Given the description of an element on the screen output the (x, y) to click on. 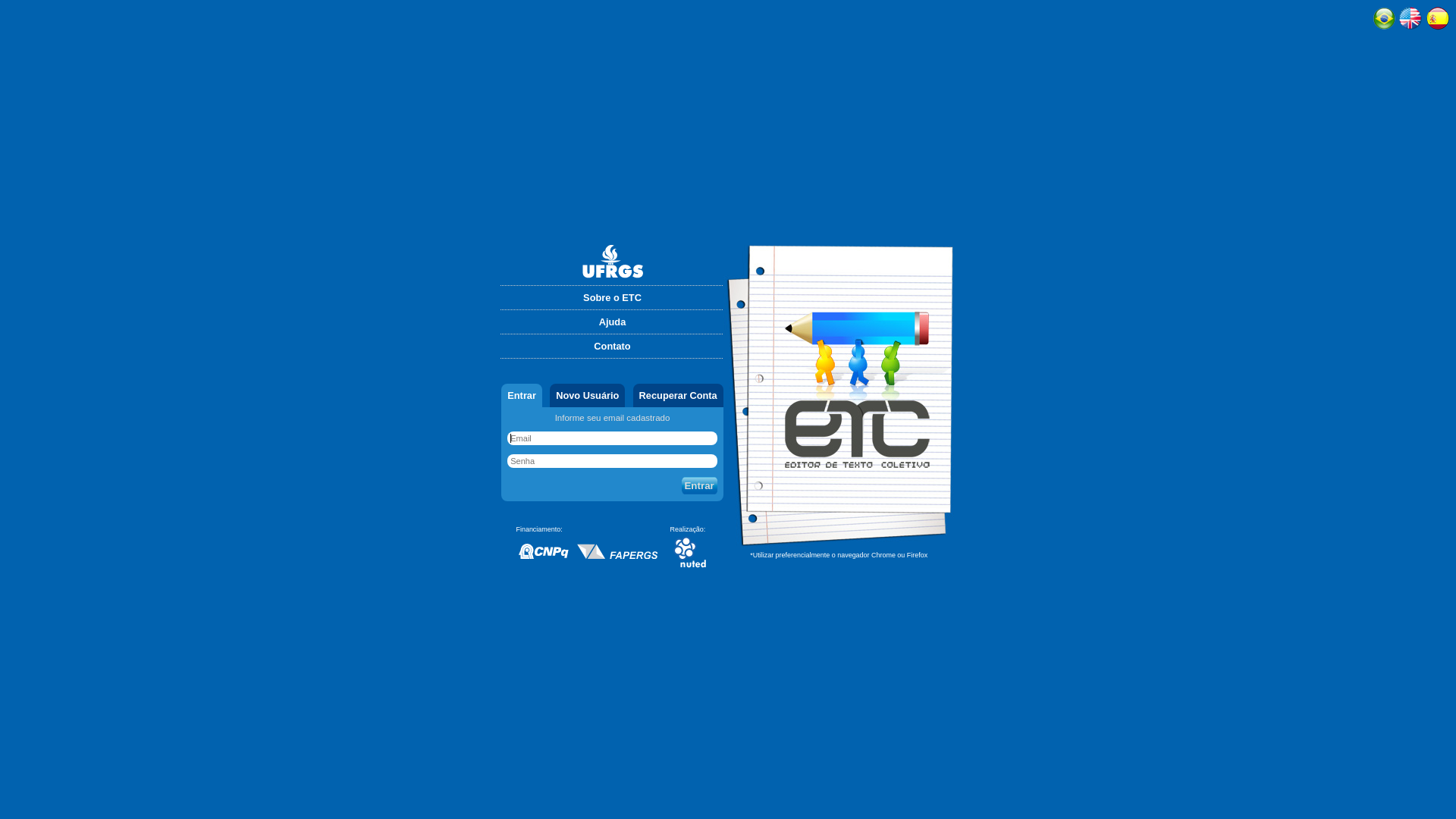
Ajuda Element type: text (611, 321)
Contato Element type: text (611, 345)
Sobre o ETC Element type: text (611, 297)
Recuperar Conta Element type: text (678, 395)
Entrar Element type: text (521, 395)
Entrar Element type: hover (698, 485)
Entrar Element type: text (698, 485)
